Given the description of an element on the screen output the (x, y) to click on. 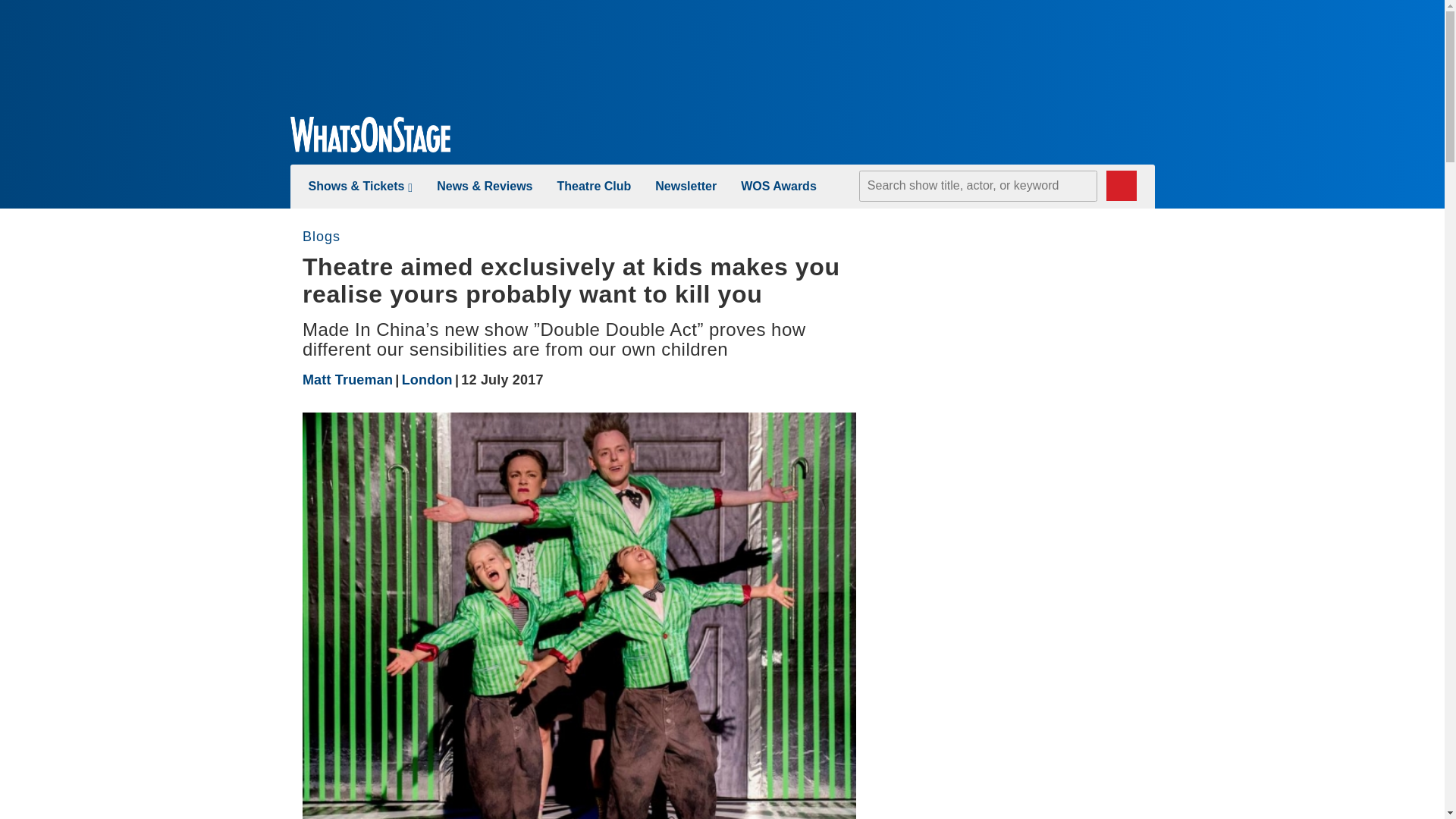
3rd party ad content (721, 52)
WOS Awards (778, 185)
new-and-reviews-link (484, 185)
Newsletter (685, 185)
Theatre Club (593, 185)
